Given the description of an element on the screen output the (x, y) to click on. 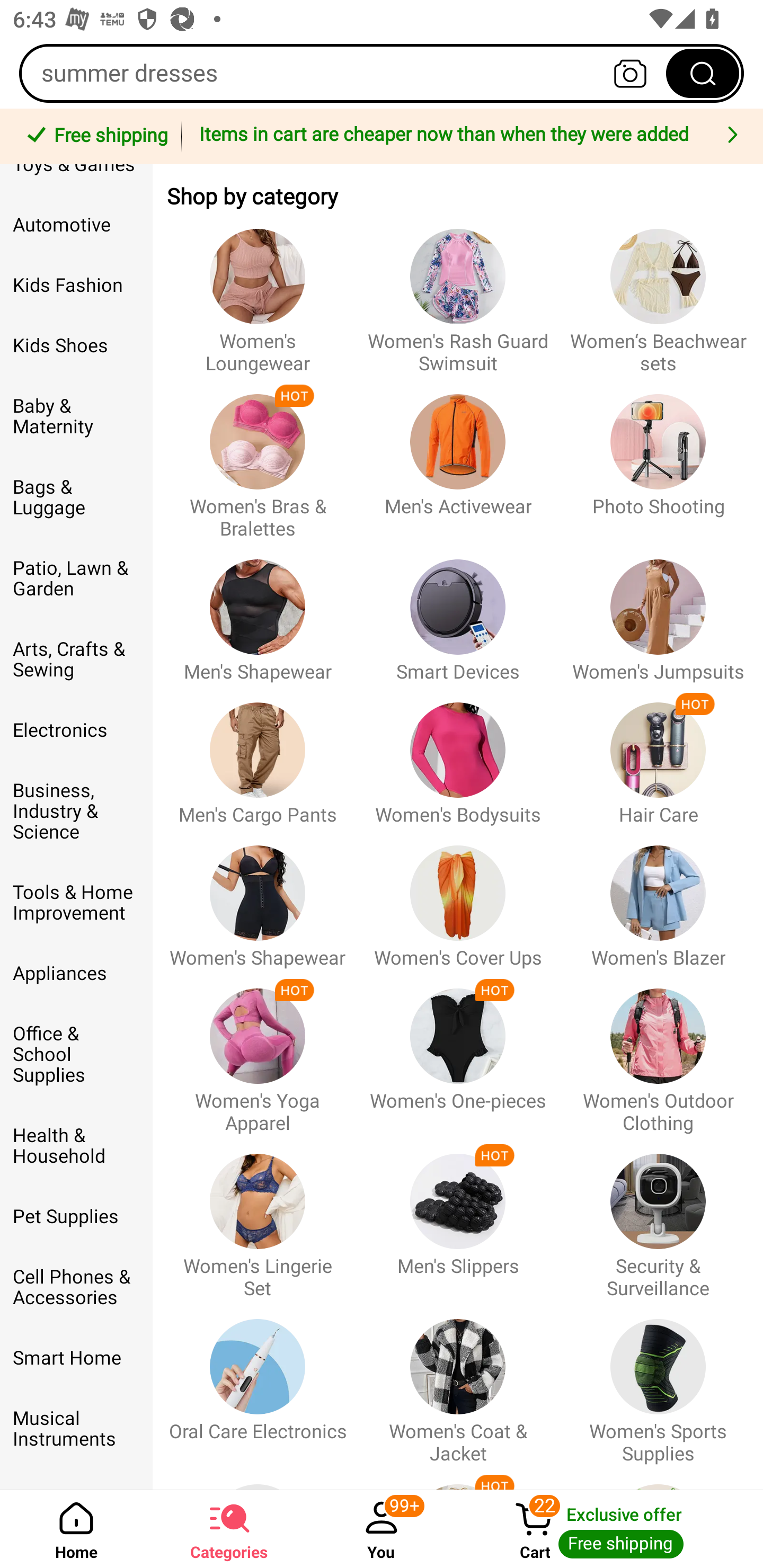
summer dresses (381, 73)
 Free shipping (93, 136)
Automotive (76, 224)
Women's Loungewear (257, 292)
Women's Rash Guard Swimsuit (457, 292)
Women‘s Beachwear sets (657, 292)
Kids Fashion (76, 285)
Kids Shoes (76, 345)
Women's Bras & Bralettes (257, 457)
Men's Activewear (457, 457)
Photo Shooting (657, 457)
Baby & Maternity (76, 416)
Bags & Luggage (76, 497)
Patio, Lawn & Garden (76, 578)
Men's Shapewear (257, 611)
Smart Devices (457, 611)
Women's Jumpsuits (657, 611)
Arts, Crafts & Sewing (76, 659)
Men's Cargo Pants (257, 754)
Women's Bodysuits (457, 754)
Hair Care (657, 754)
Electronics (76, 730)
Business, Industry & Science (76, 811)
Women's Shapewear (257, 897)
Women's Cover Ups (457, 897)
Women's Blazer (657, 897)
Tools & Home Improvement (76, 902)
Appliances (76, 973)
Women's Yoga Apparel (257, 1052)
Women's One-pieces (457, 1052)
Women's Outdoor Clothing (657, 1052)
Office & School Supplies (76, 1054)
Health & Household (76, 1145)
Women's Lingerie Set (257, 1217)
Men's Slippers (457, 1217)
Security & Surveillance (657, 1217)
Pet Supplies (76, 1216)
Cell Phones & Accessories (76, 1287)
Oral Care Electronics (257, 1381)
Women's Coat & Jacket (457, 1381)
Women's Sports Supplies (657, 1381)
Smart Home (76, 1357)
Musical Instruments (76, 1428)
Home (76, 1528)
Categories (228, 1528)
You ‎99+‎ You (381, 1528)
Cart 22 Cart Exclusive offer (610, 1528)
